Given the description of an element on the screen output the (x, y) to click on. 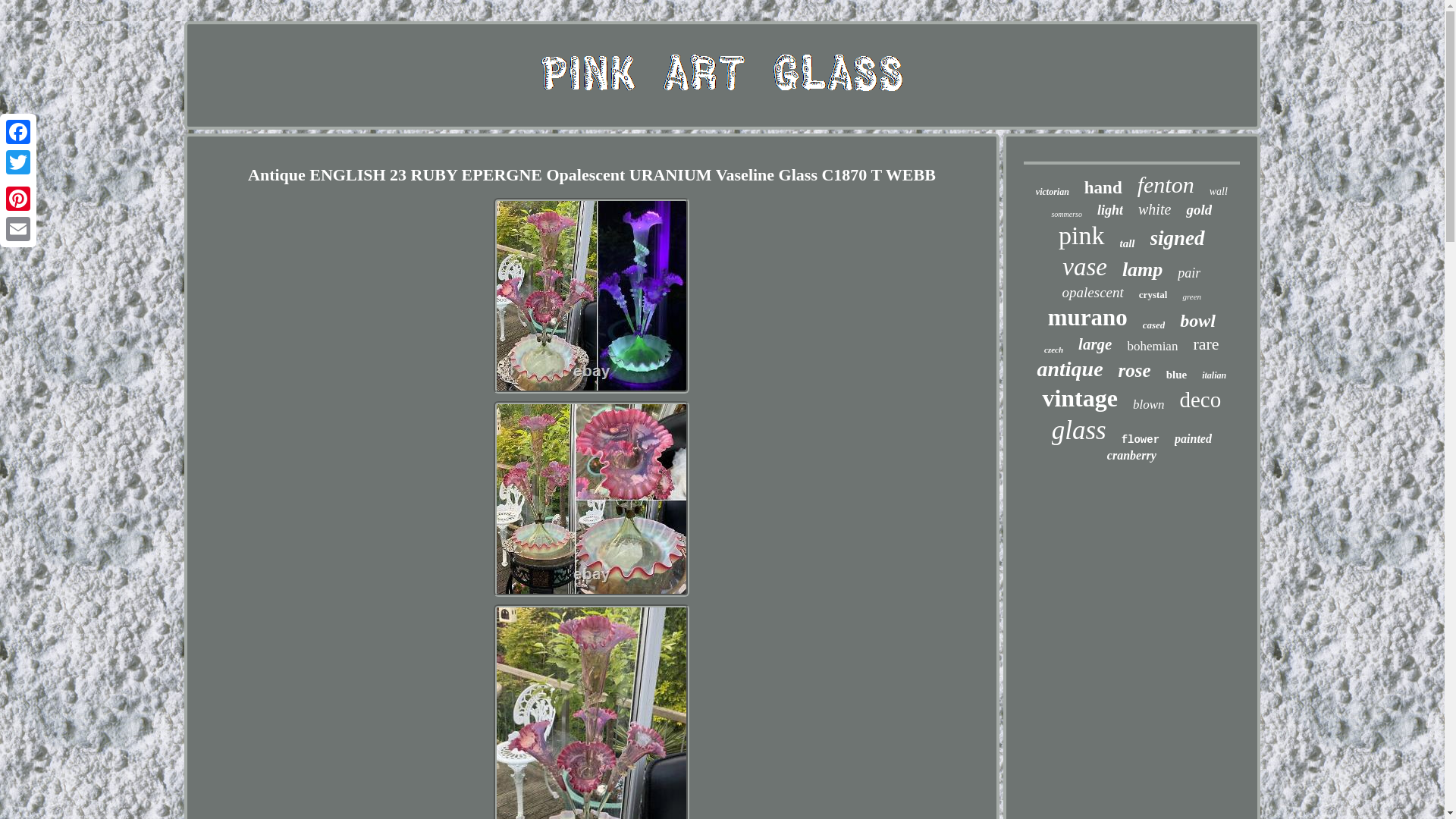
lamp (1141, 269)
italian (1213, 375)
Facebook (17, 132)
rare (1205, 343)
pair (1188, 273)
bowl (1197, 321)
green (1191, 296)
Twitter (17, 162)
czech (1052, 348)
